Given the description of an element on the screen output the (x, y) to click on. 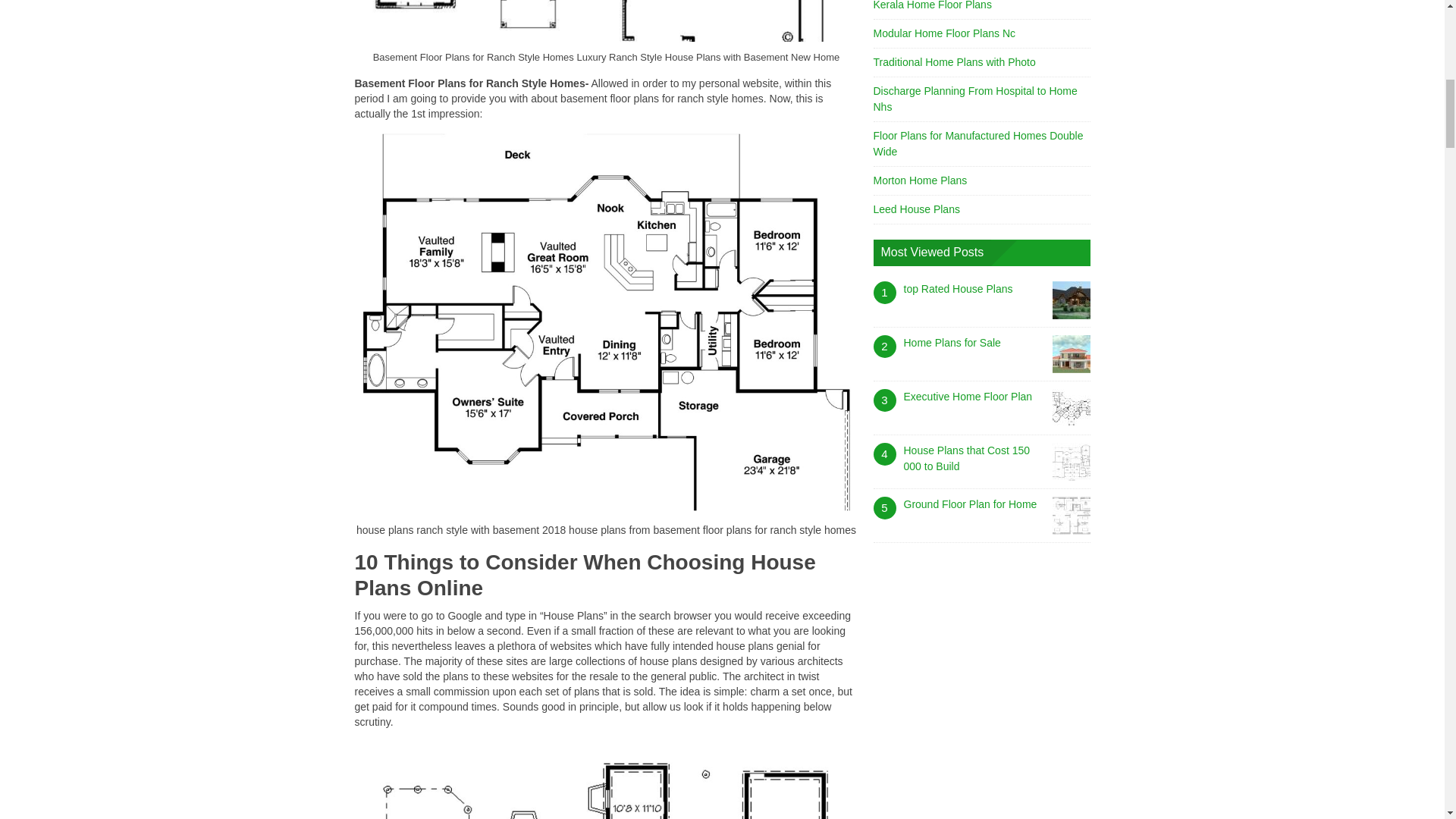
ranch style house plans with basements cottage house plans (607, 780)
